Given the description of an element on the screen output the (x, y) to click on. 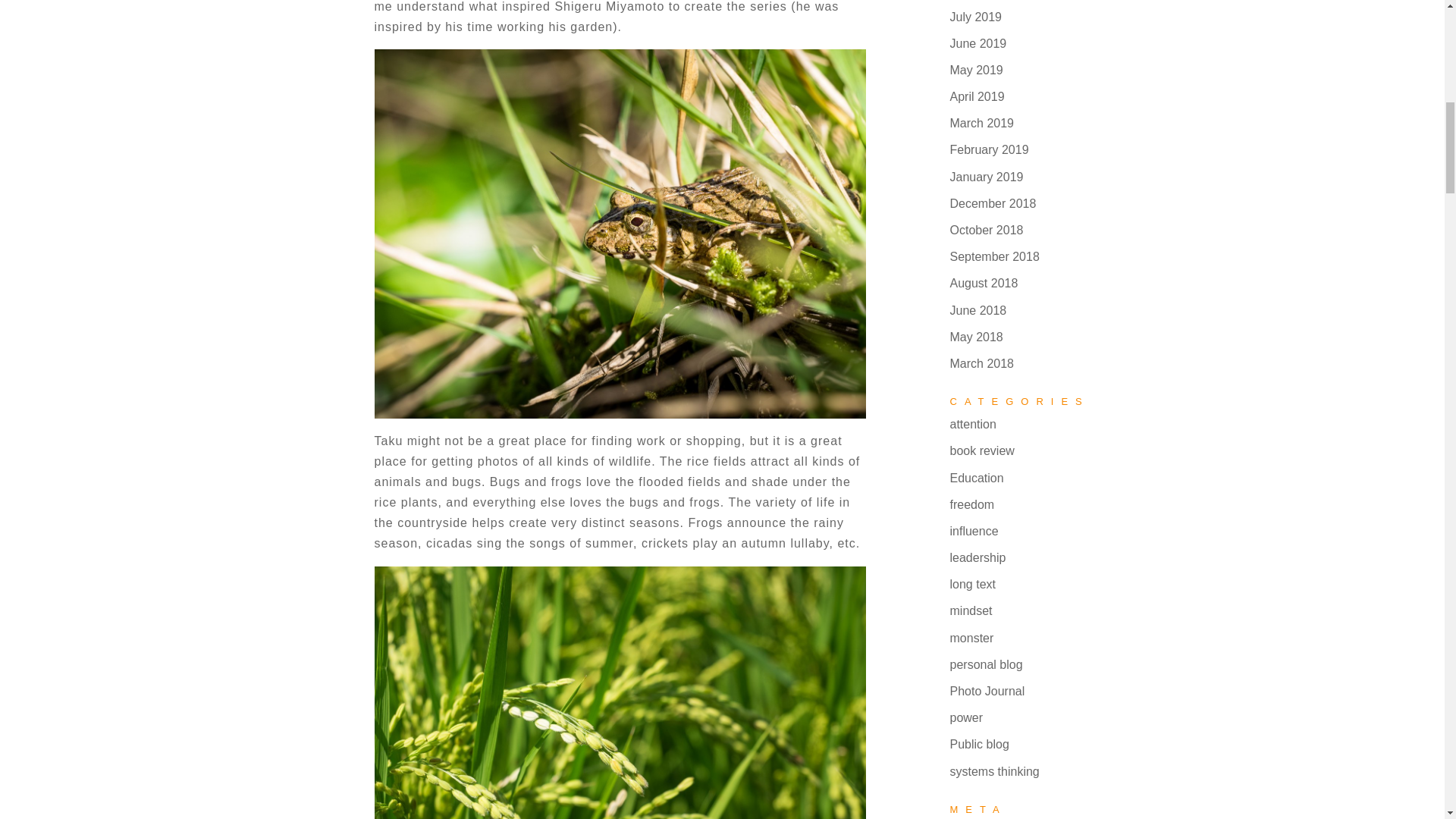
June 2019 (977, 42)
July 2019 (975, 16)
March 2019 (981, 123)
February 2019 (988, 149)
January 2019 (986, 176)
May 2019 (976, 69)
April 2019 (976, 96)
